Given the description of an element on the screen output the (x, y) to click on. 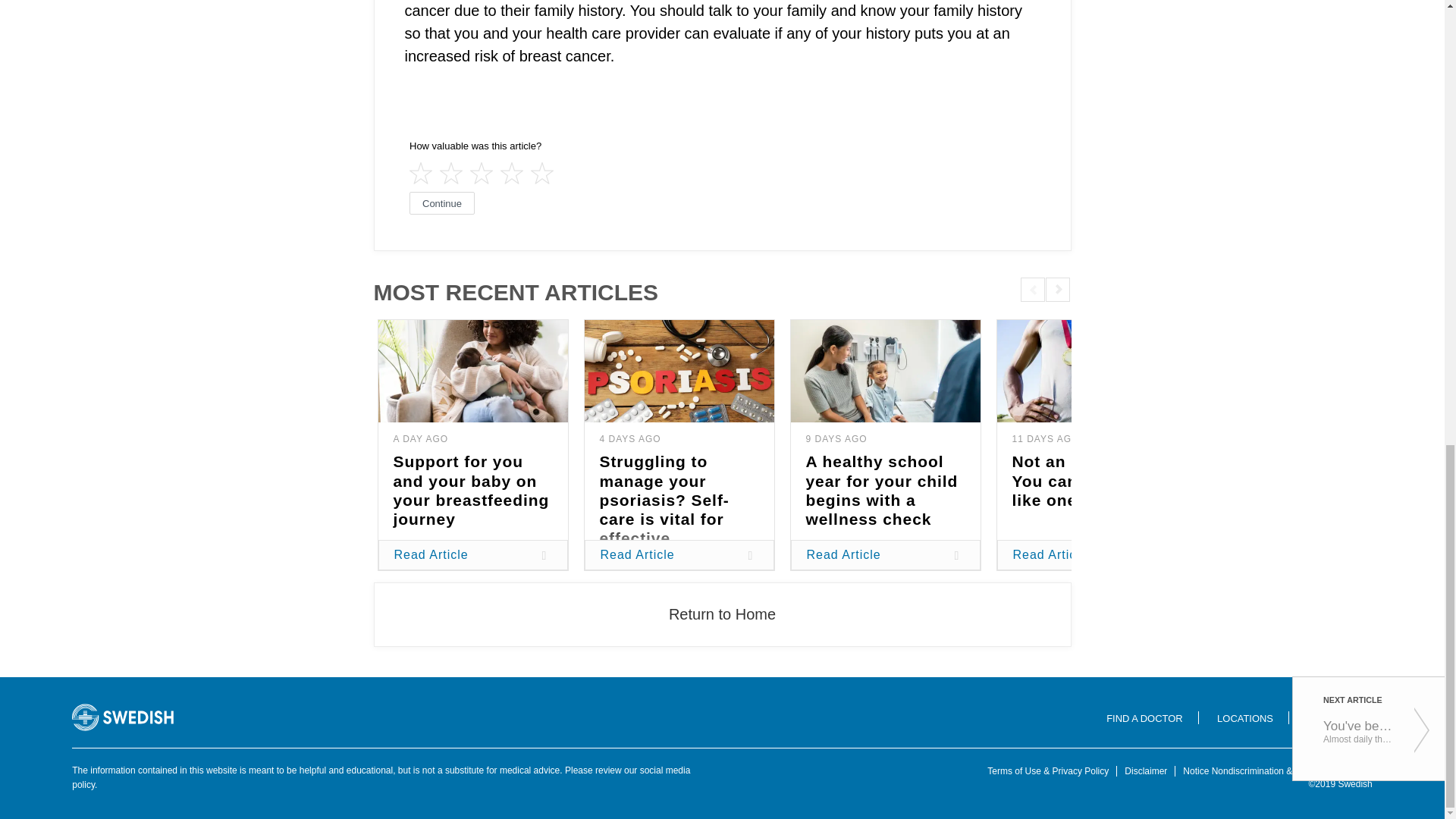
2024-08-14T12:40:52 (629, 439)
2024-08-16T15:24:19 (420, 439)
2024-08-06T18:31:48 (1044, 439)
2024-08-09T11:51:00 (835, 439)
